Given the description of an element on the screen output the (x, y) to click on. 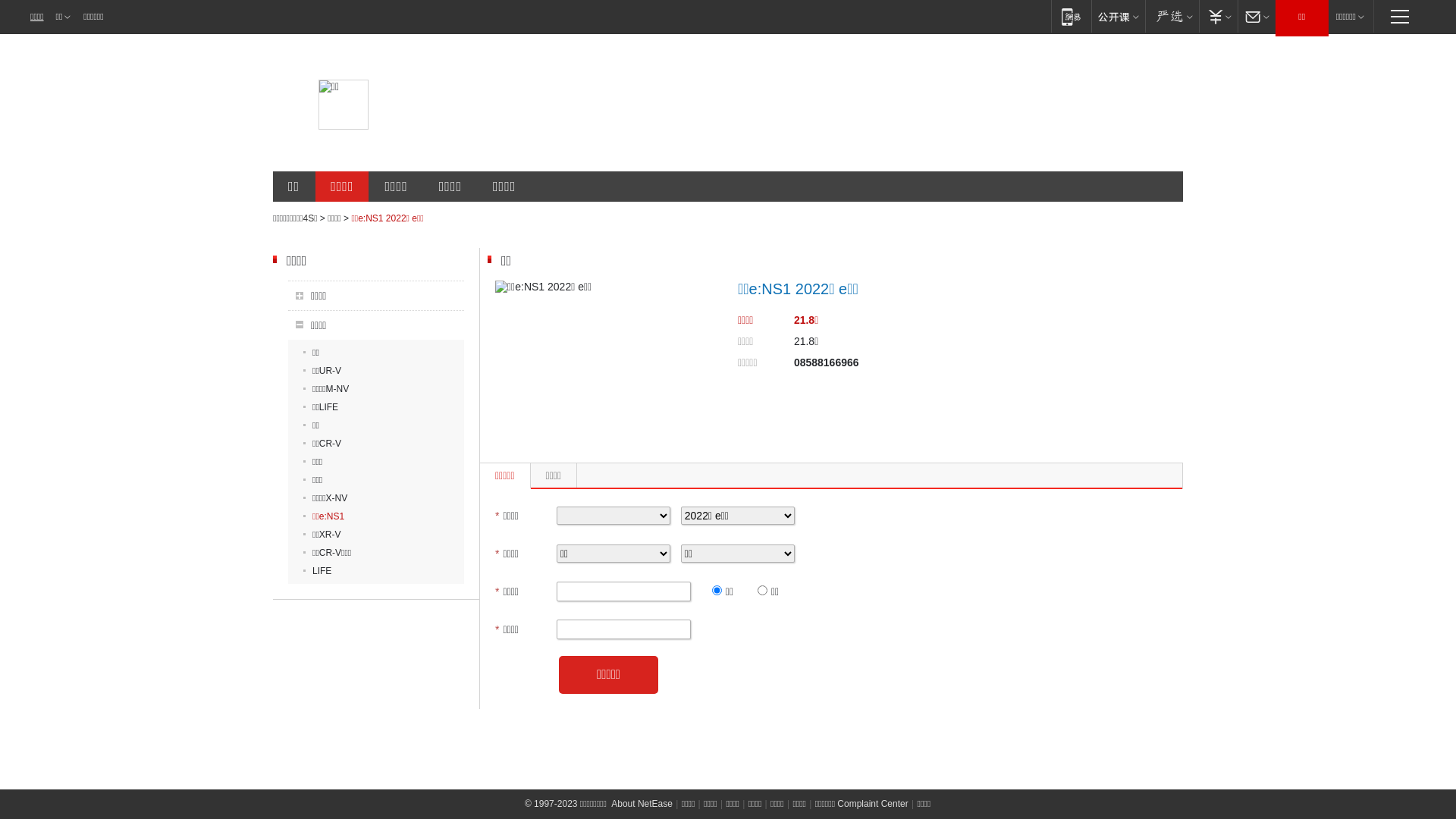
About NetEase Element type: text (641, 803)
LIFE Element type: text (317, 570)
